Given the description of an element on the screen output the (x, y) to click on. 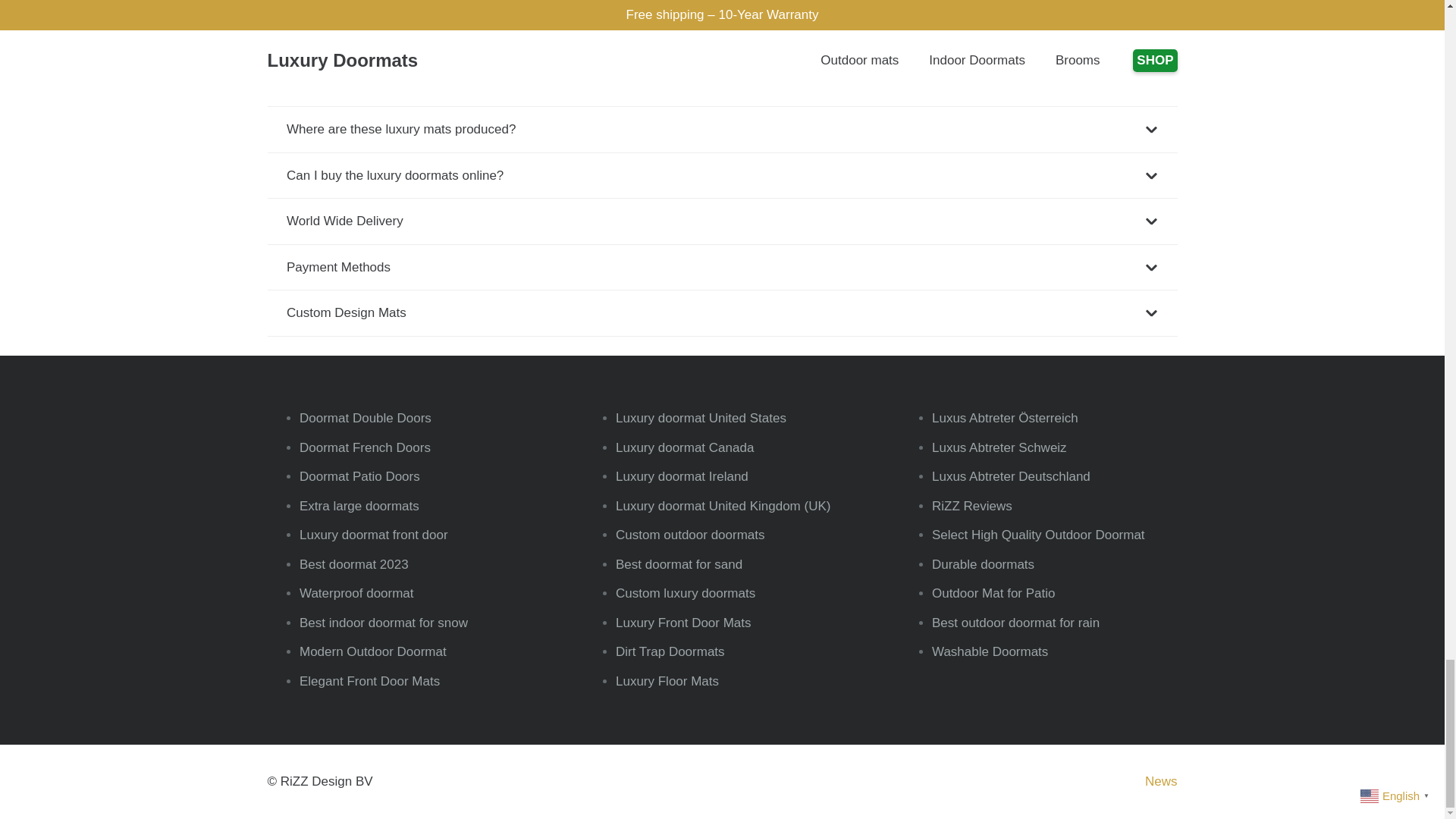
Where are these luxury mats produced? (721, 129)
Modern Outdoor Doormat (372, 651)
Custom Design Mats (721, 312)
Custom outdoor doormats (690, 534)
Luxury doormat front door (373, 534)
Luxury doormat United States (700, 418)
Payment Methods (721, 267)
Doormat French Doors (364, 447)
Doormat Patio Doors (359, 476)
Doormat Double Doors (364, 418)
